Given the description of an element on the screen output the (x, y) to click on. 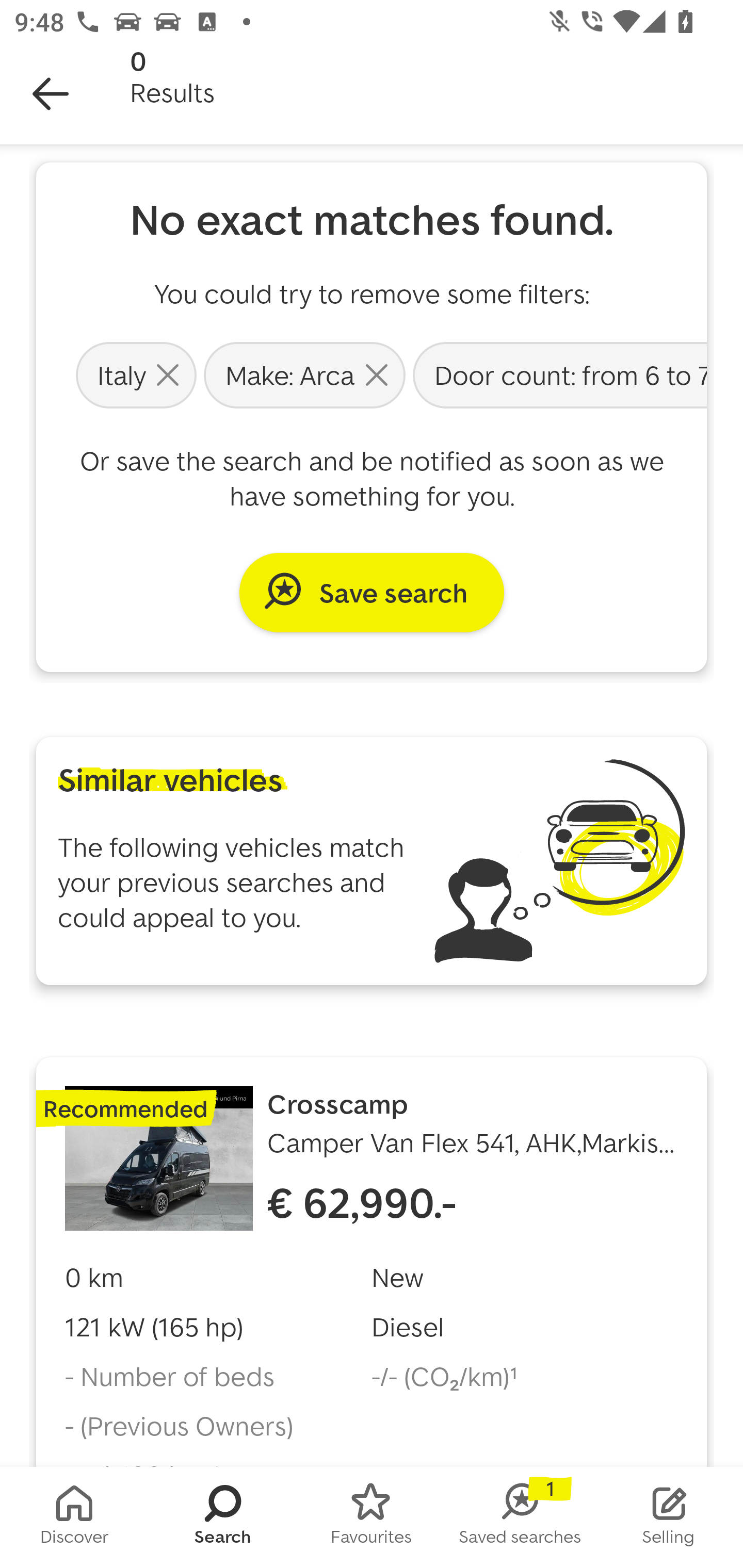
Navigate up (50, 93)
Italy (135, 374)
Make: Arca (304, 374)
Door count: from 6 to 7 (557, 374)
Save search (371, 592)
HOMESCREEN Discover (74, 1517)
SEARCH Search (222, 1517)
FAVORITES Favourites (371, 1517)
SAVED_SEARCHES Saved searches 1 (519, 1517)
STOCK_LIST Selling (668, 1517)
